Given the description of an element on the screen output the (x, y) to click on. 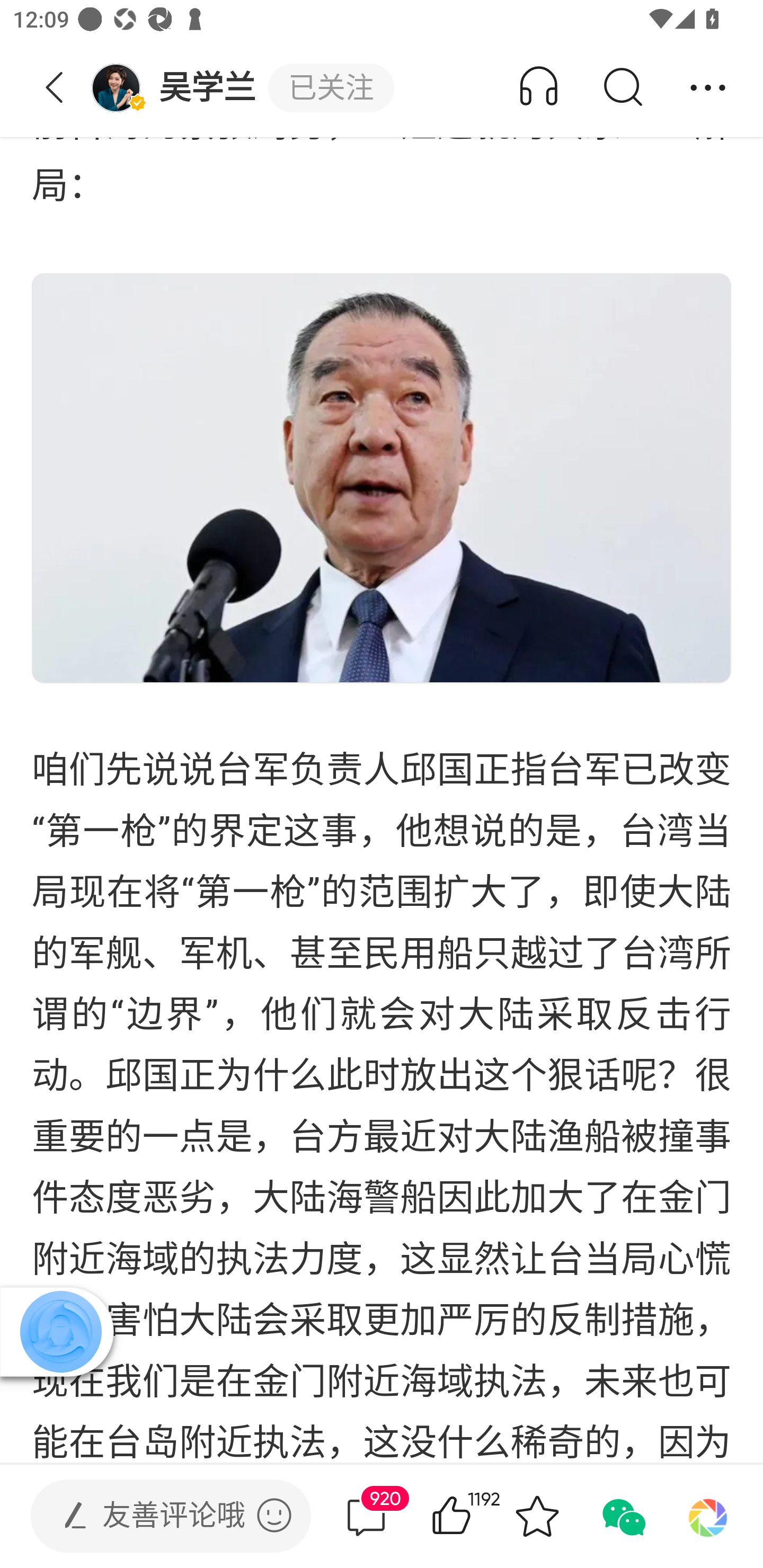
吴学兰 (179, 87)
搜索  (622, 87)
分享  (707, 87)
 返回 (54, 87)
已关注 (330, 88)
新闻图片 (381, 477)
播放器 (60, 1331)
发表评论  友善评论哦 发表评论  (155, 1516)
920评论  920 评论 (365, 1516)
1192赞 (476, 1516)
收藏  (536, 1516)
分享到微信  (622, 1516)
分享到朋友圈 (707, 1516)
 (274, 1515)
